Given the description of an element on the screen output the (x, y) to click on. 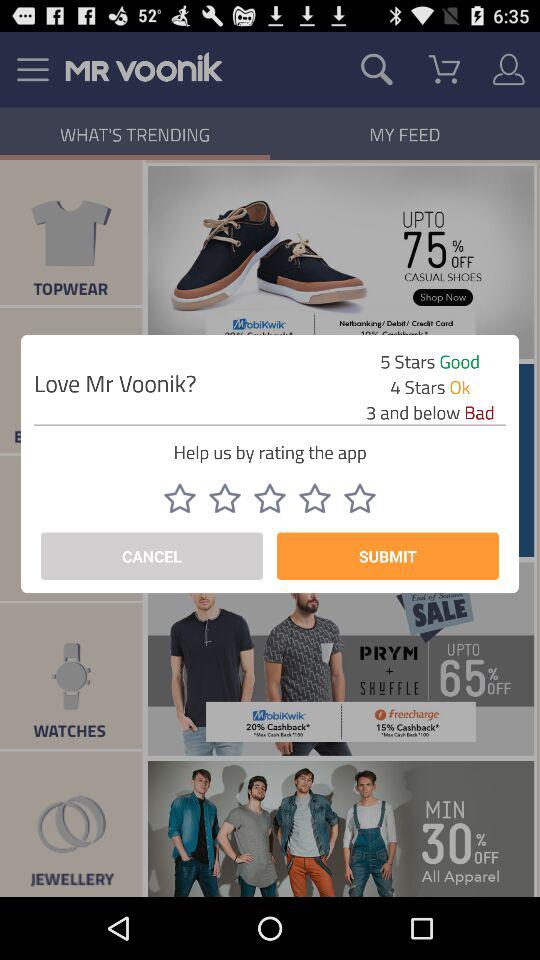
give a 5 star rating (360, 498)
